Given the description of an element on the screen output the (x, y) to click on. 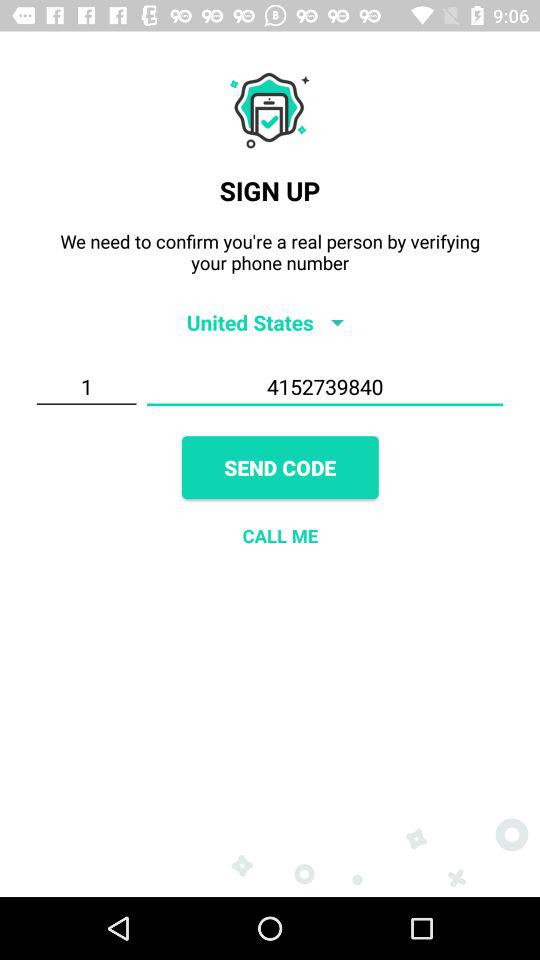
click the 1 item (86, 387)
